Given the description of an element on the screen output the (x, y) to click on. 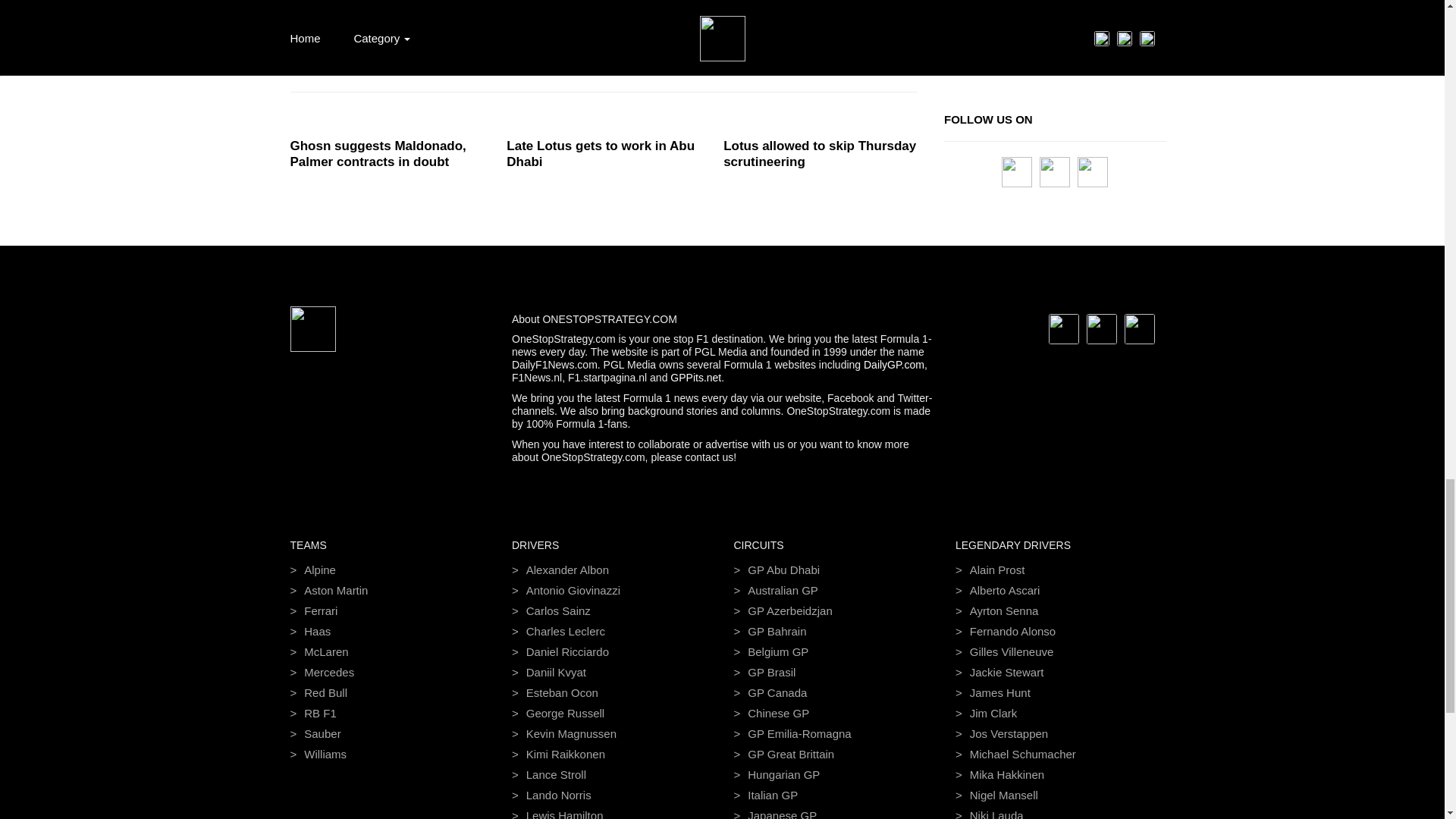
Ghosn suggests Maldonado, Palmer contracts in doubt (386, 153)
Lotus allowed to skip Thursday scrutineering (820, 153)
Late Lotus gets to work in Abu Dhabi (603, 153)
